Given the description of an element on the screen output the (x, y) to click on. 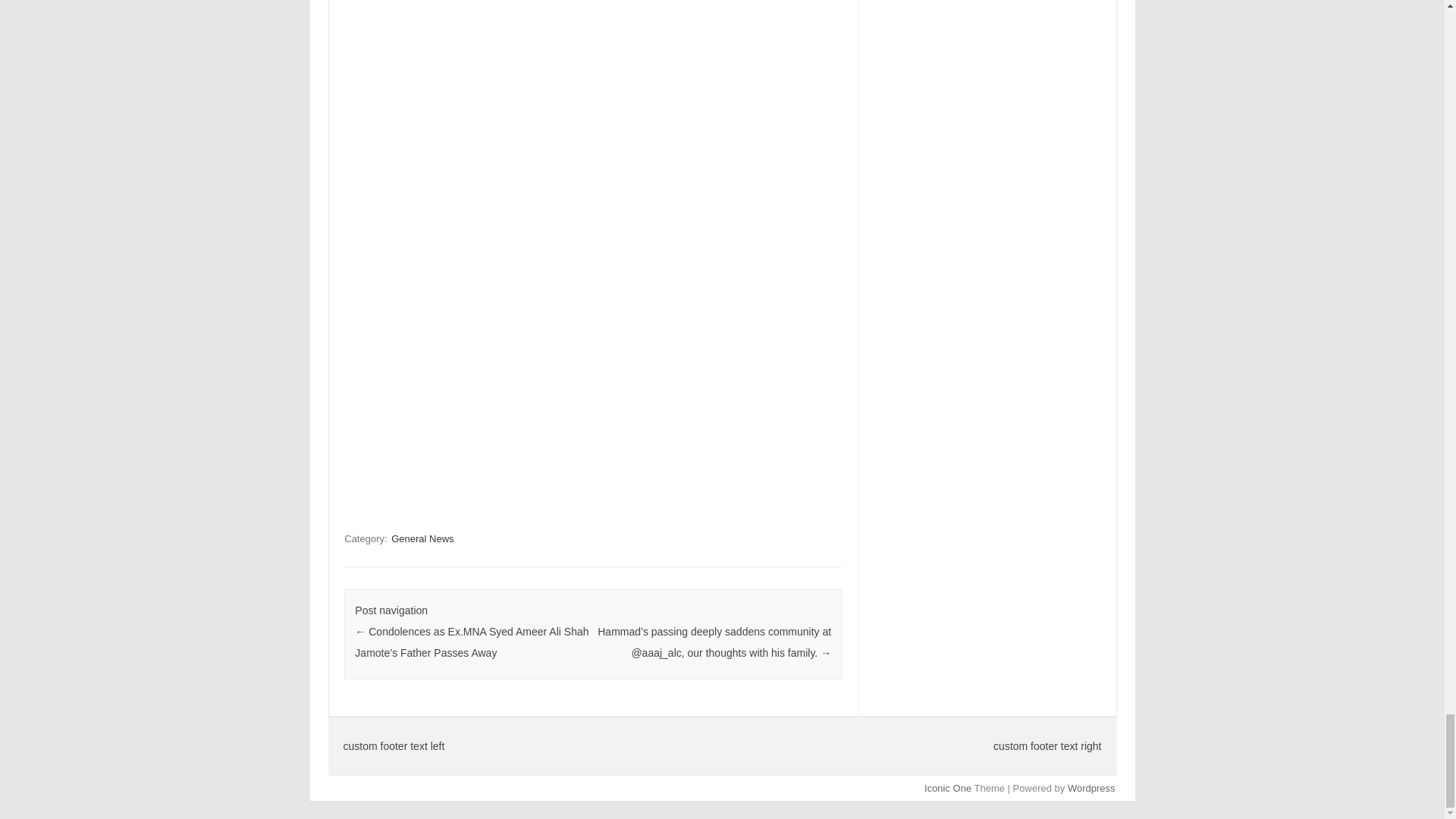
General News (422, 538)
Wordpress (1091, 787)
Iconic One (947, 787)
